Given the description of an element on the screen output the (x, y) to click on. 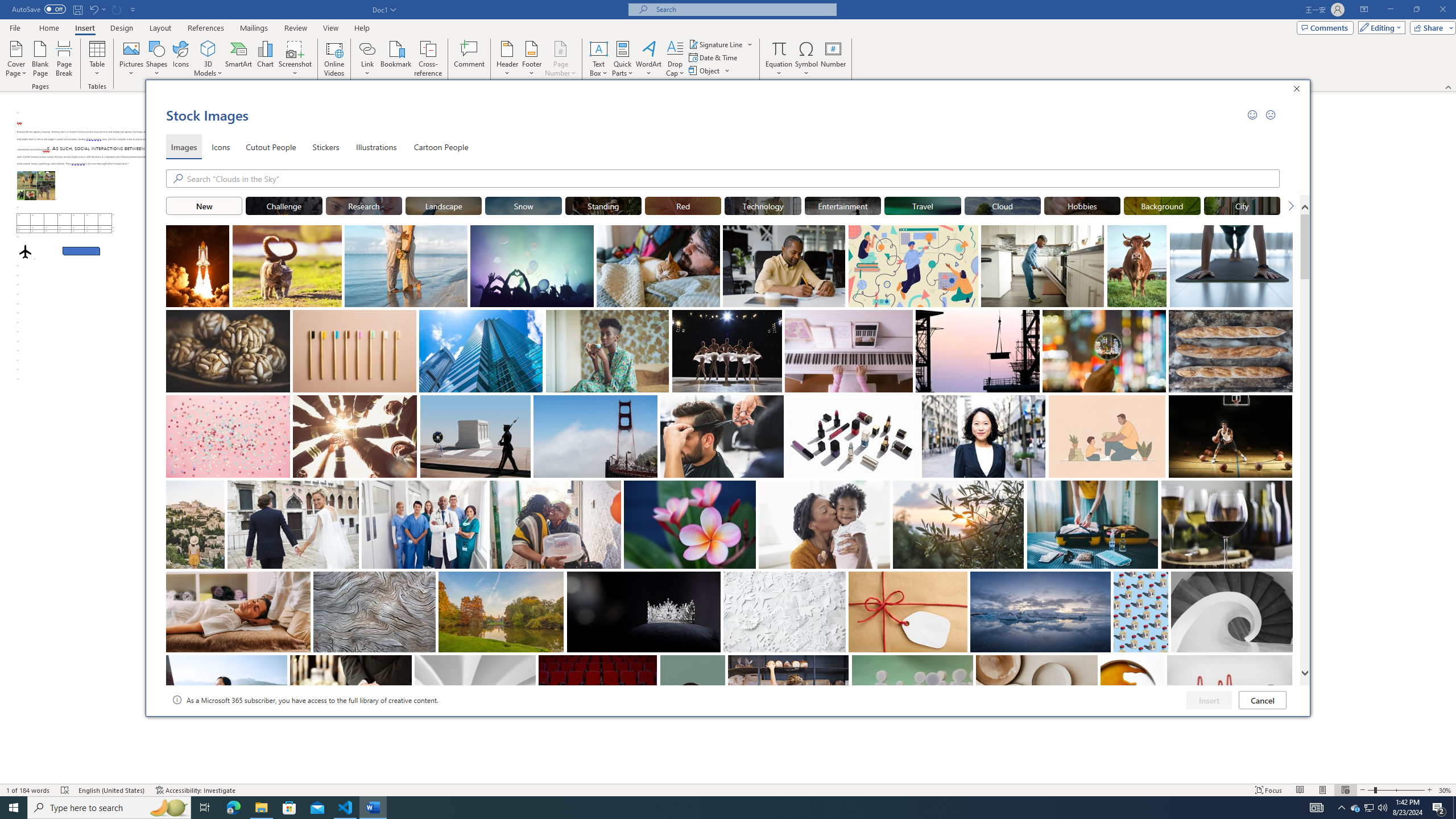
"Landscape" Stock Images. (443, 205)
Running applications (717, 807)
Show desktop (1454, 807)
Morphological variation in six dogs (36, 185)
Search "Clouds in the Sky" (733, 178)
Type here to search (108, 807)
Text Box (598, 58)
"New" Stock Images. (203, 205)
Equation (778, 58)
Cartoon People (440, 146)
Footer (531, 58)
